Given the description of an element on the screen output the (x, y) to click on. 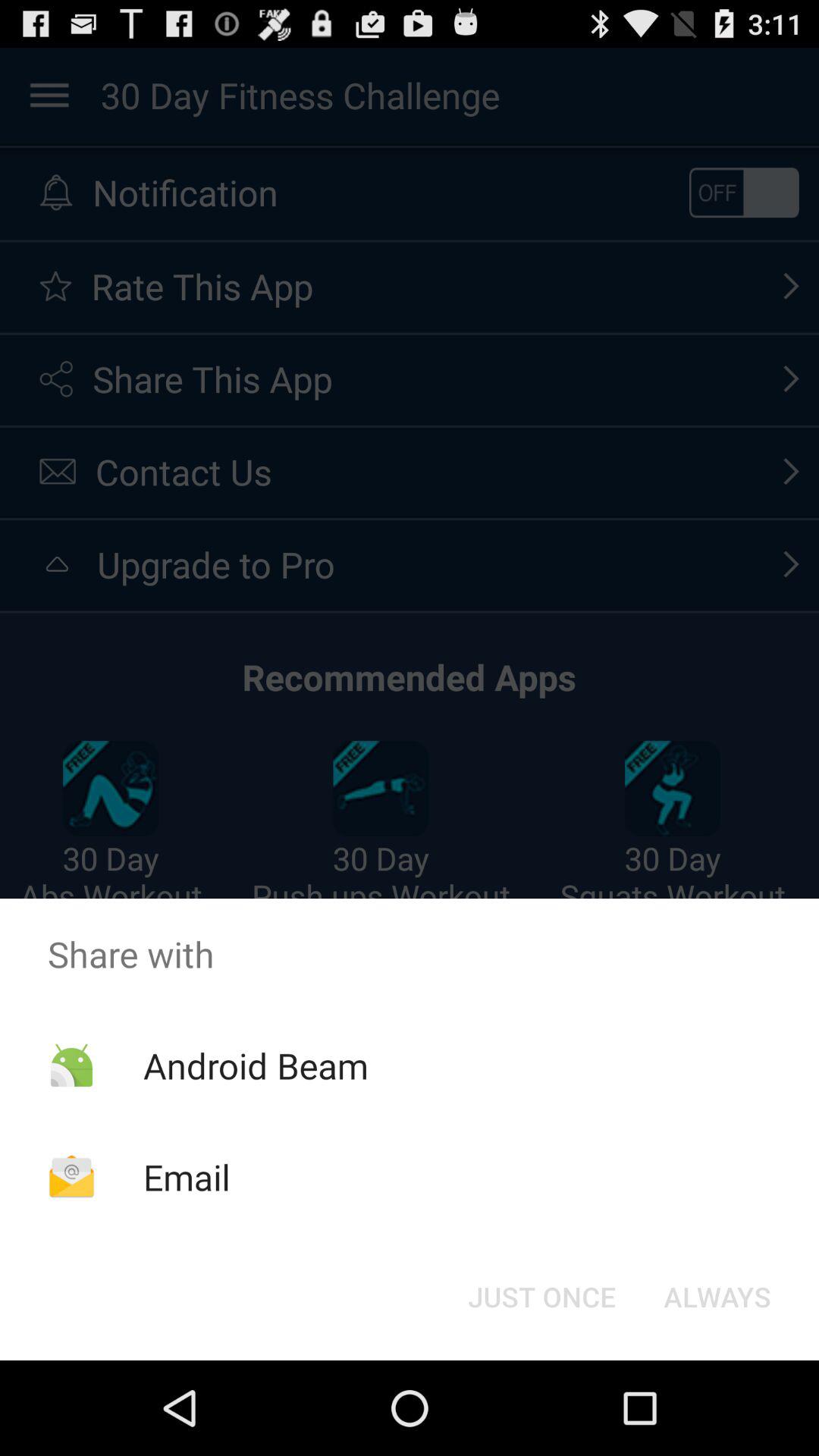
tap email app (186, 1176)
